Given the description of an element on the screen output the (x, y) to click on. 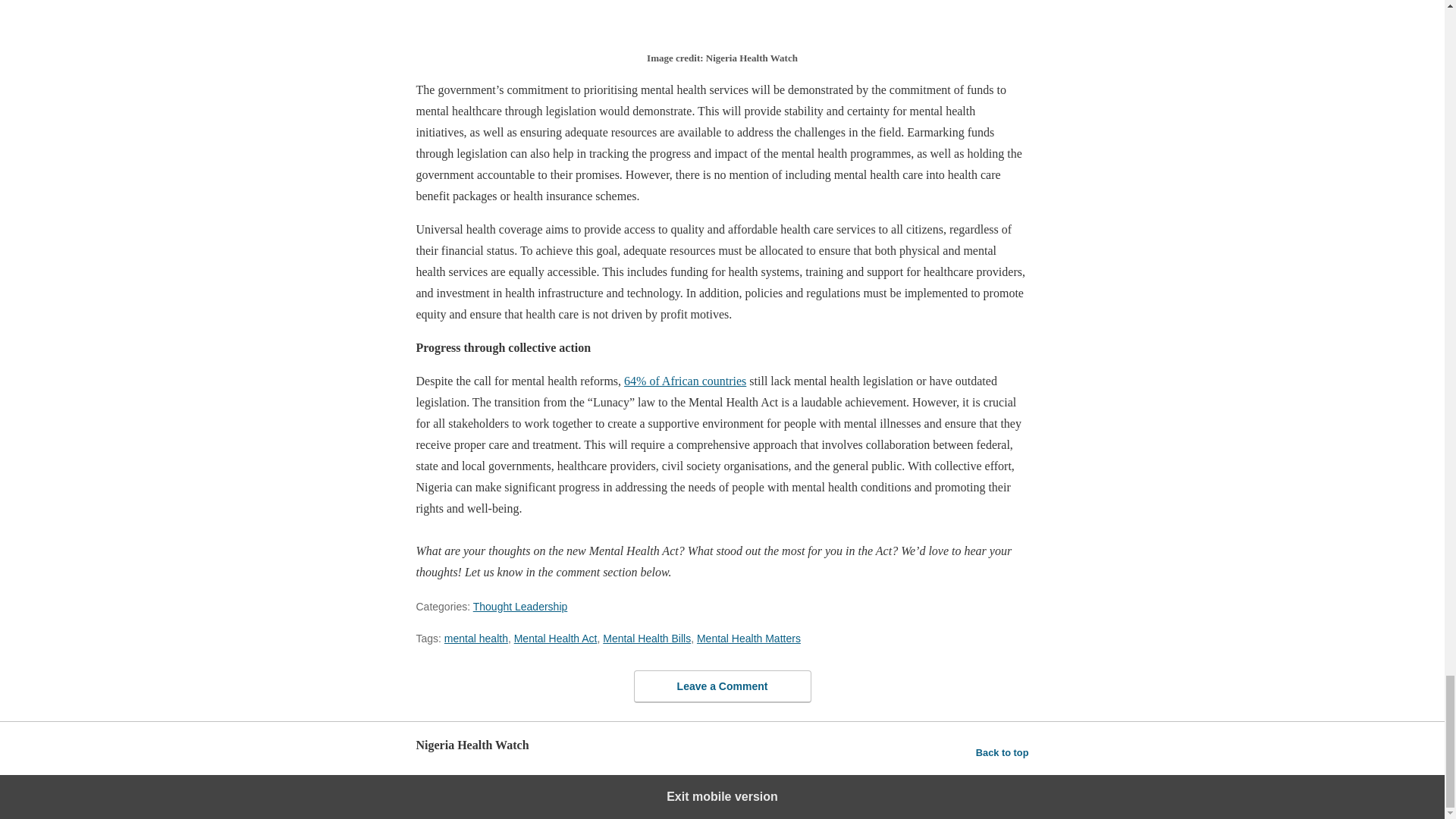
Mental Health Matters (748, 638)
Mental Health Bills (646, 638)
Back to top (1002, 752)
Mental Health Act (554, 638)
mental health (476, 638)
Leave a Comment (721, 686)
Thought Leadership (520, 606)
